Given the description of an element on the screen output the (x, y) to click on. 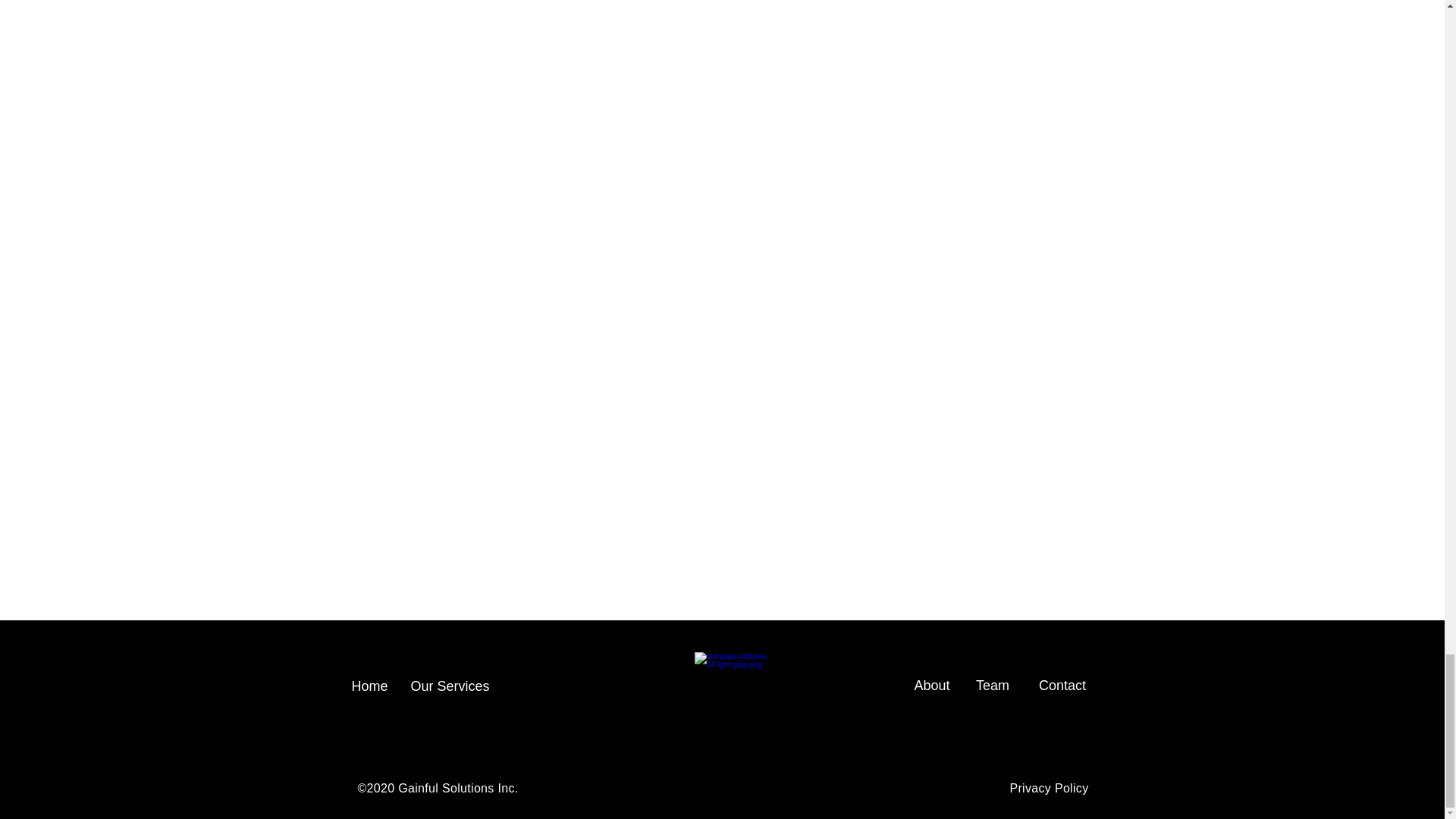
Home (370, 685)
Privacy Policy (1048, 788)
About (931, 685)
Contact (1062, 685)
Our Services (449, 685)
Team (992, 685)
